Given the description of an element on the screen output the (x, y) to click on. 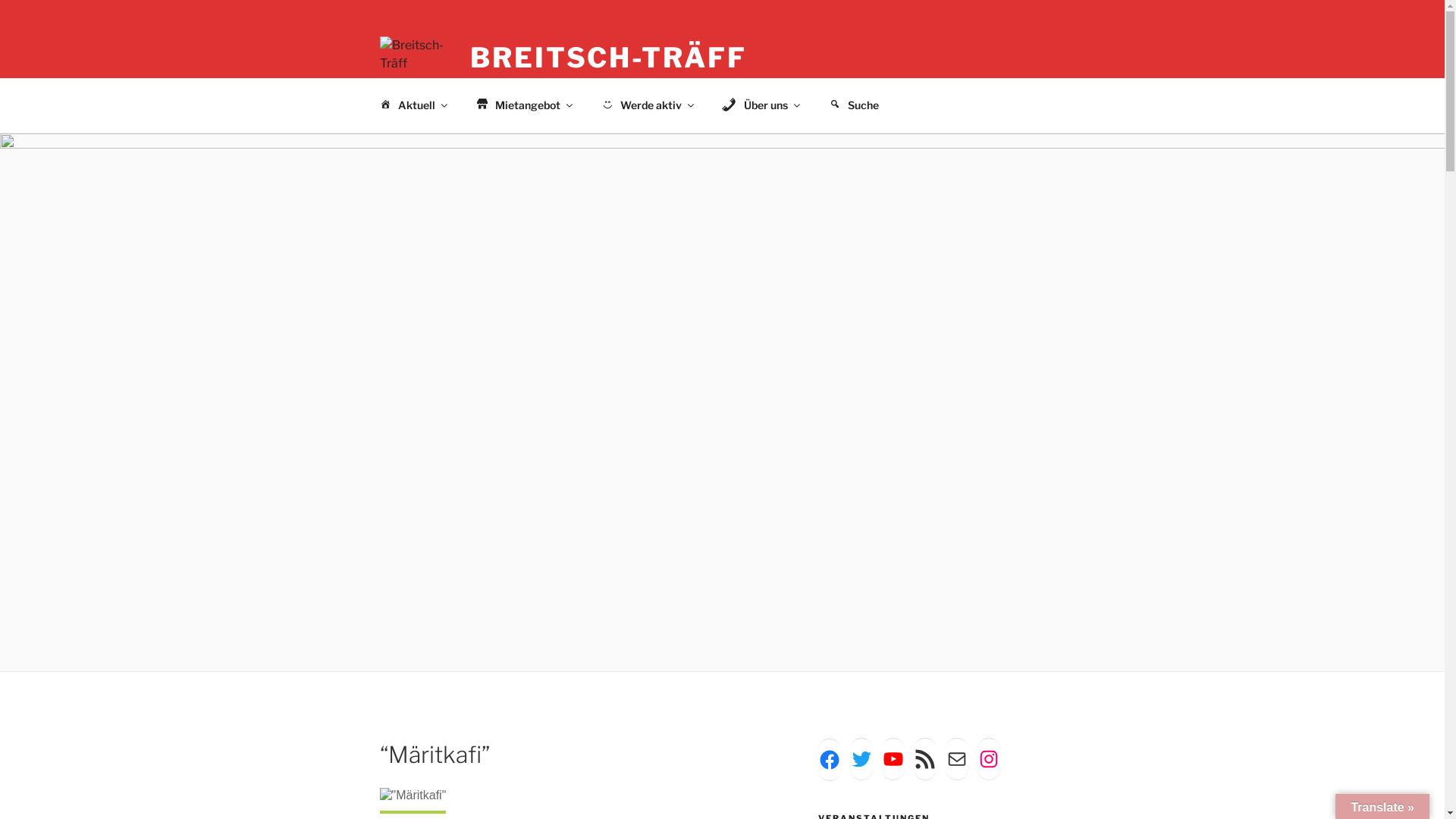
Aktuell Element type: text (411, 105)
Twitter Element type: text (861, 758)
YouTube Element type: text (892, 758)
Instagram Element type: text (988, 758)
Mail Element type: text (956, 758)
Suche Element type: text (853, 105)
Werde aktiv Element type: text (646, 105)
RSS Feed Element type: text (924, 758)
Facebook Element type: text (829, 759)
Mietangebot Element type: text (522, 105)
